Given the description of an element on the screen output the (x, y) to click on. 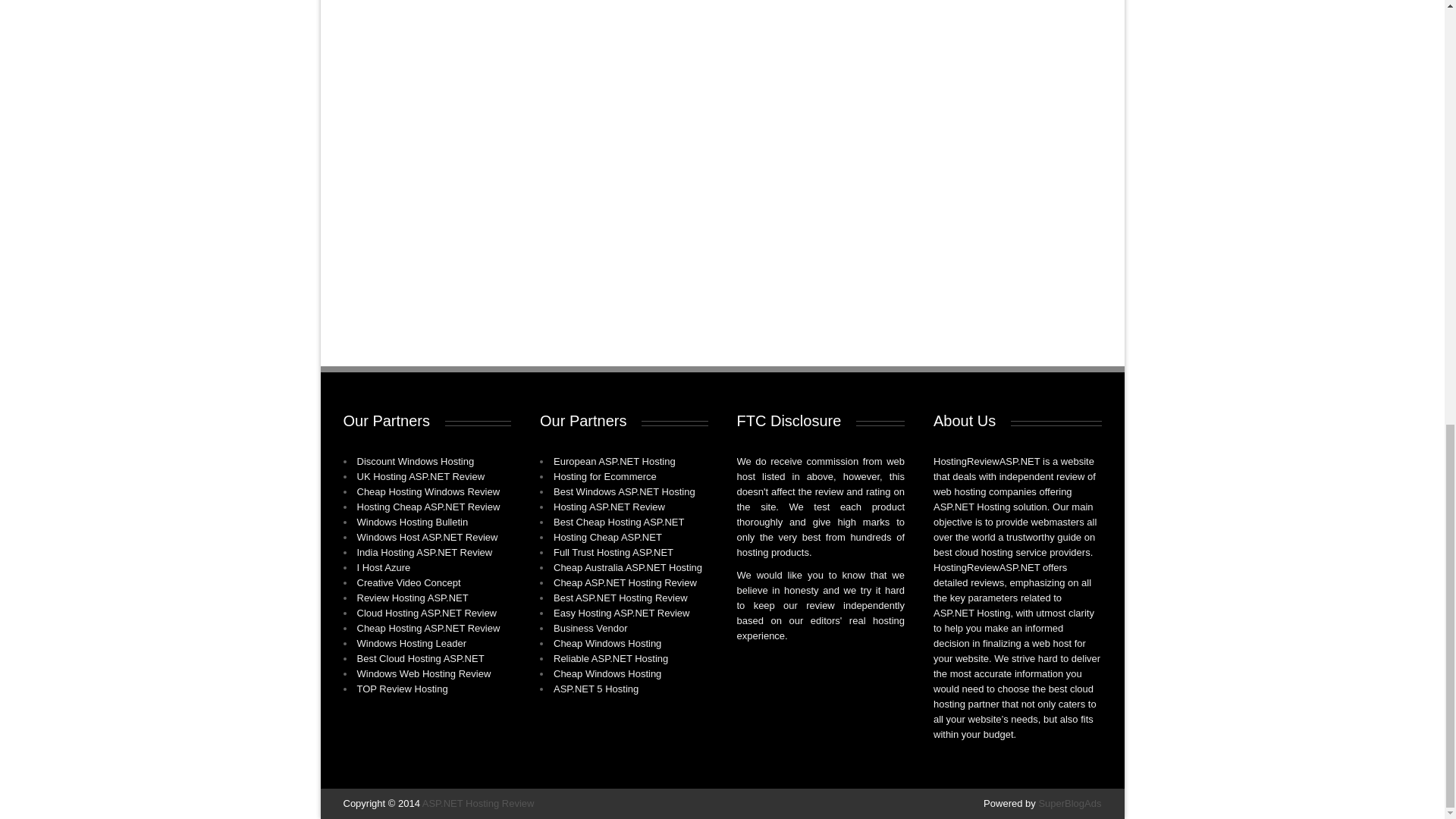
Hosting Cheap ASP.NET Review (427, 506)
Windows Hosting Bulletin (411, 521)
UK Hosting ASP.NET Review (420, 476)
Cheap Hosting Windows Review (427, 491)
Discount Windows Hosting (415, 460)
